Given the description of an element on the screen output the (x, y) to click on. 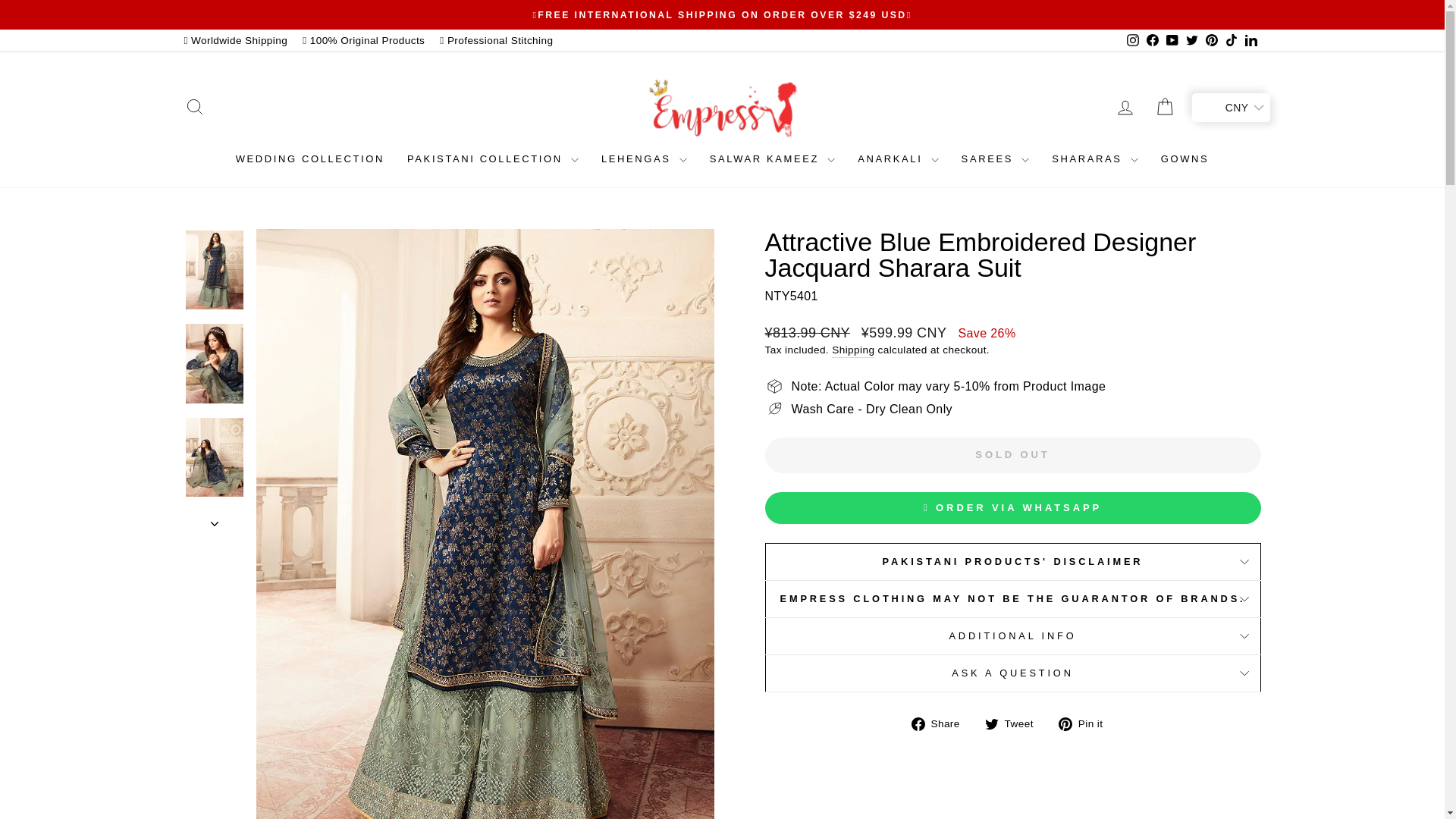
instagram (1132, 39)
Empress Clothing on Instagram (1131, 40)
Empress Clothing on TikTok (1230, 40)
Empress Clothing on Pinterest (1211, 40)
Empress Clothing on LinkedIn (1250, 40)
Empress Clothing on Facebook (1151, 40)
icon-chevron (214, 523)
twitter (1192, 39)
ICON-SEARCH (194, 106)
ACCOUNT (1125, 107)
